Given the description of an element on the screen output the (x, y) to click on. 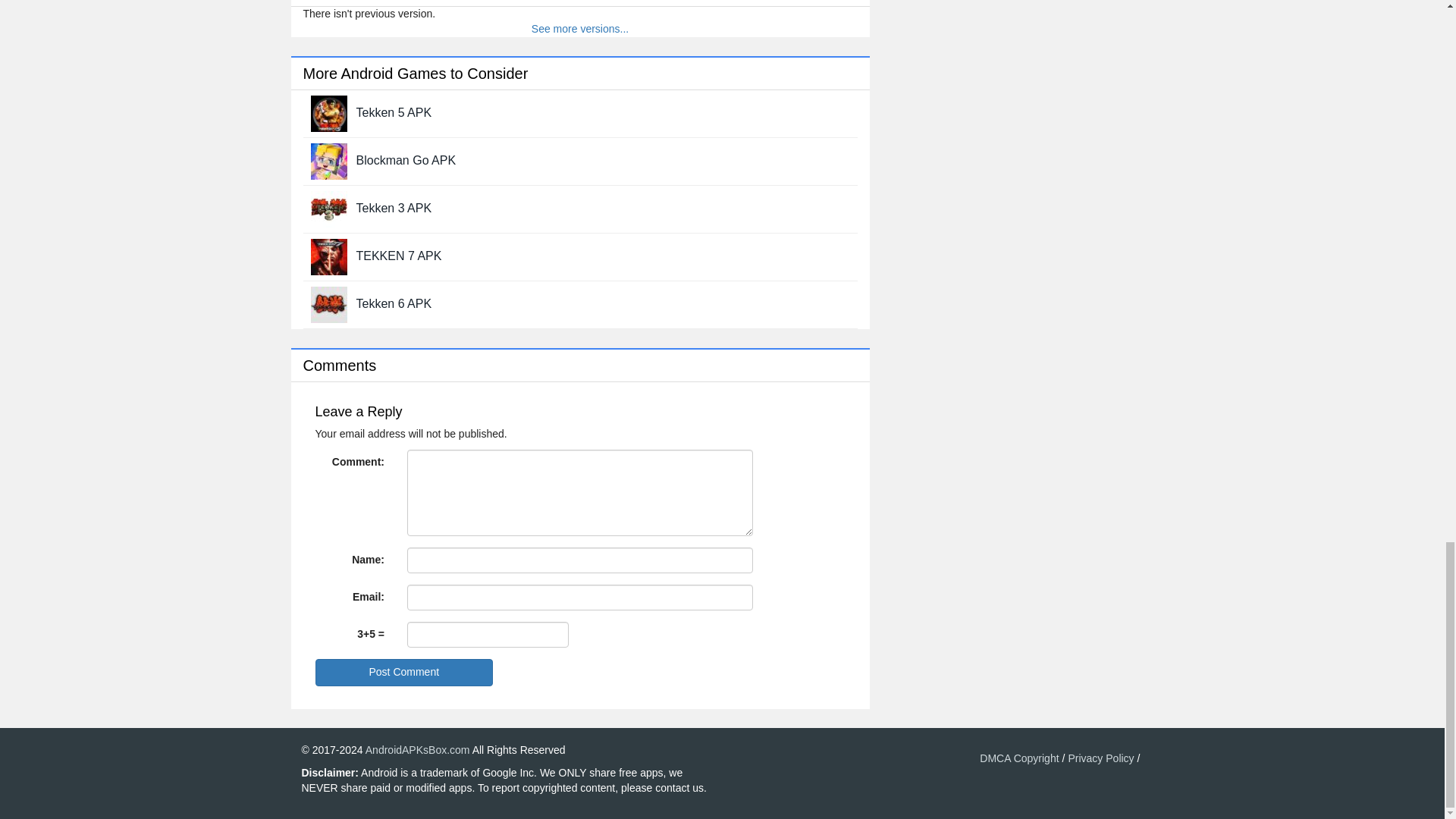
Tekken 5 Latest Version 1.0.0 APK Download (329, 111)
Post Comment (404, 672)
Tekken 3 Latest Version 1.2 APK Download (329, 207)
TEKKEN 7 APK (399, 255)
Tekken 3 APK (394, 207)
Blockman Go Latest Version 2.86.1 APK Download (406, 160)
Blockman Go APK (406, 160)
Tekken 5 Latest Version 1.0.0 APK Download (394, 112)
TEKKEN 7 Latest Version 3.11.3.0 APK Download (329, 255)
Tekken 6 Latest Version 1.0.0 APK Download (394, 303)
